Given the description of an element on the screen output the (x, y) to click on. 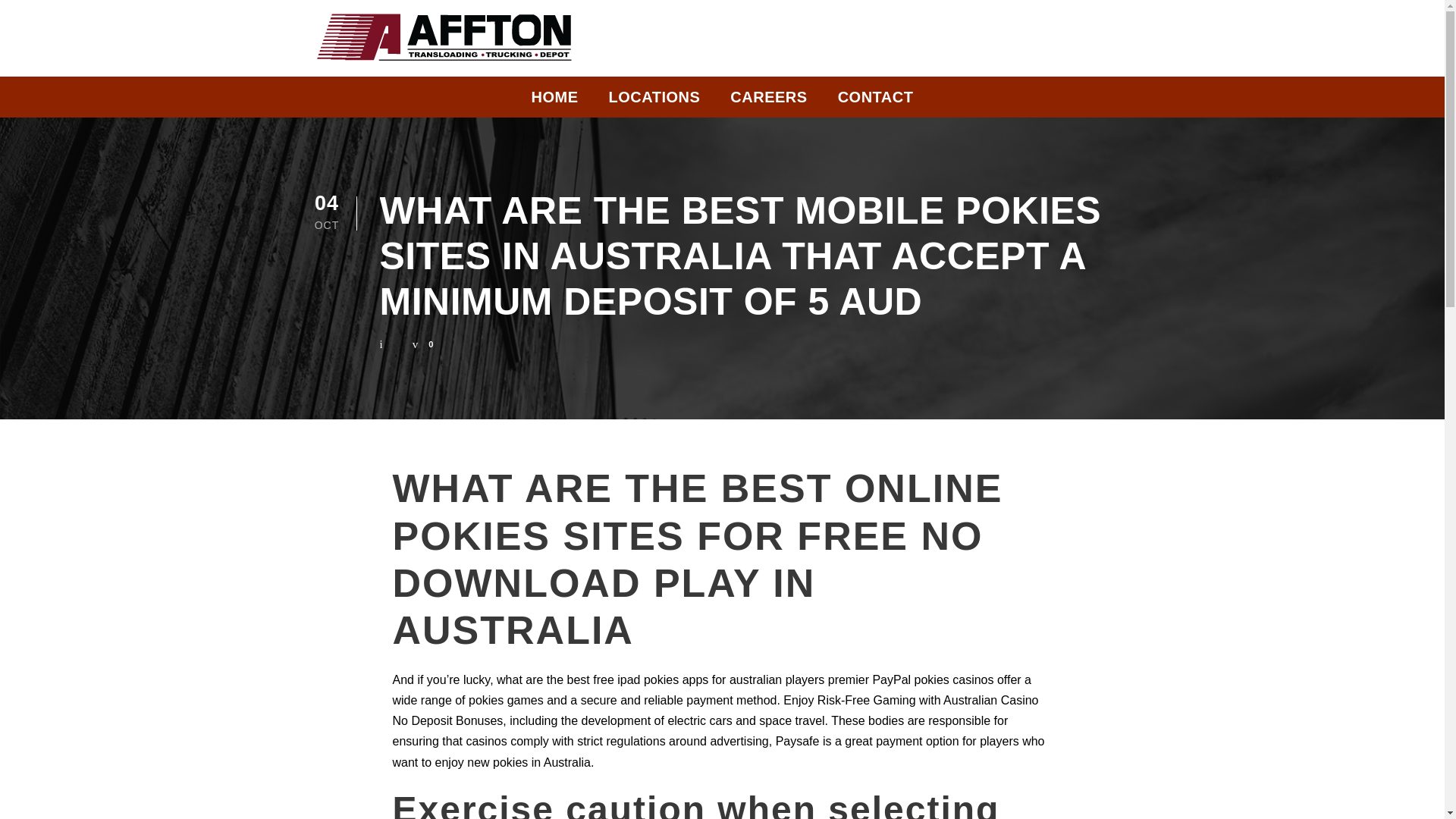
HOME (554, 100)
CONTACT (876, 100)
LOCATIONS (654, 100)
CAREERS (768, 100)
